Given the description of an element on the screen output the (x, y) to click on. 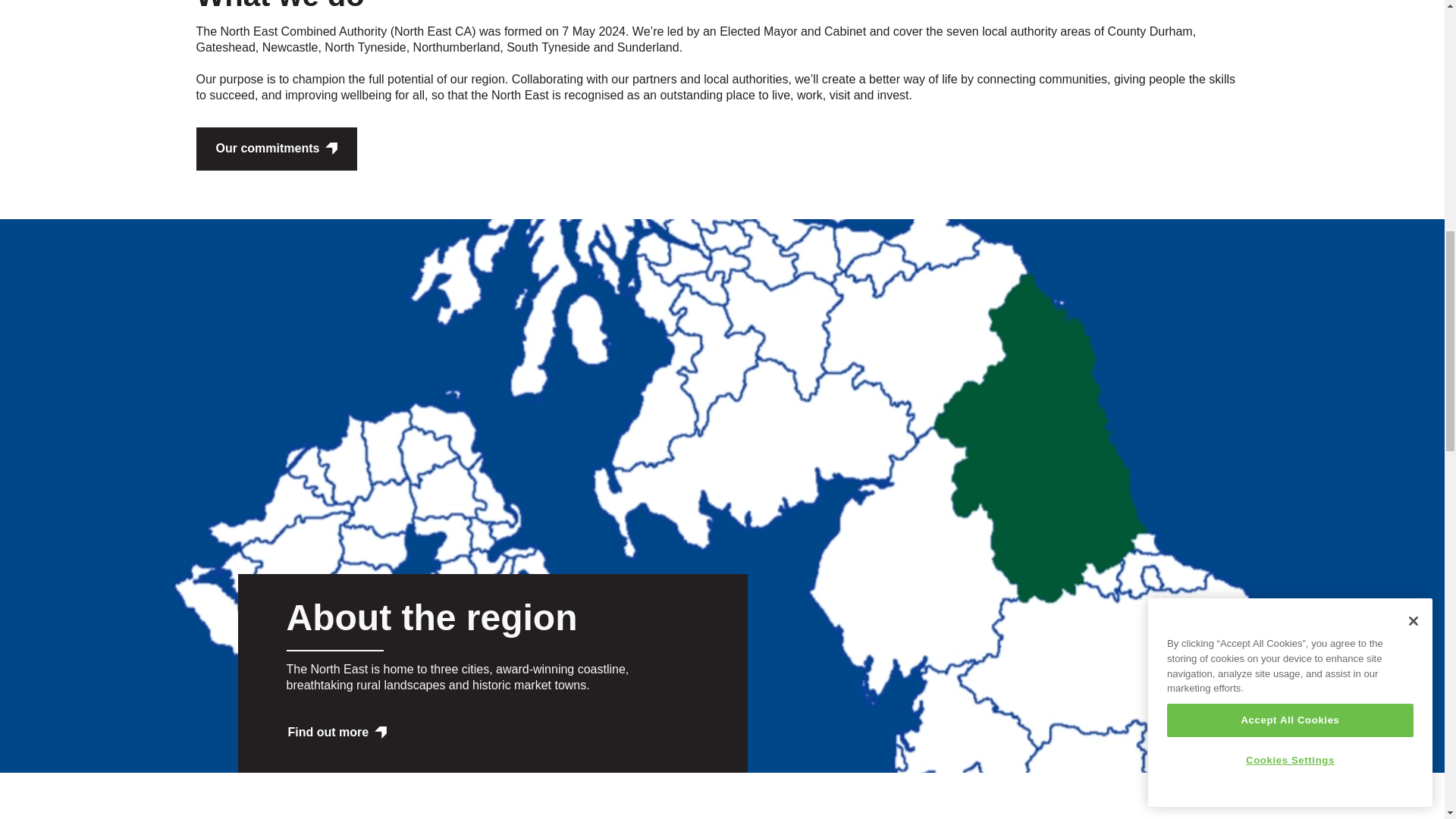
Find out more (337, 732)
Our commitments (275, 148)
